Given the description of an element on the screen output the (x, y) to click on. 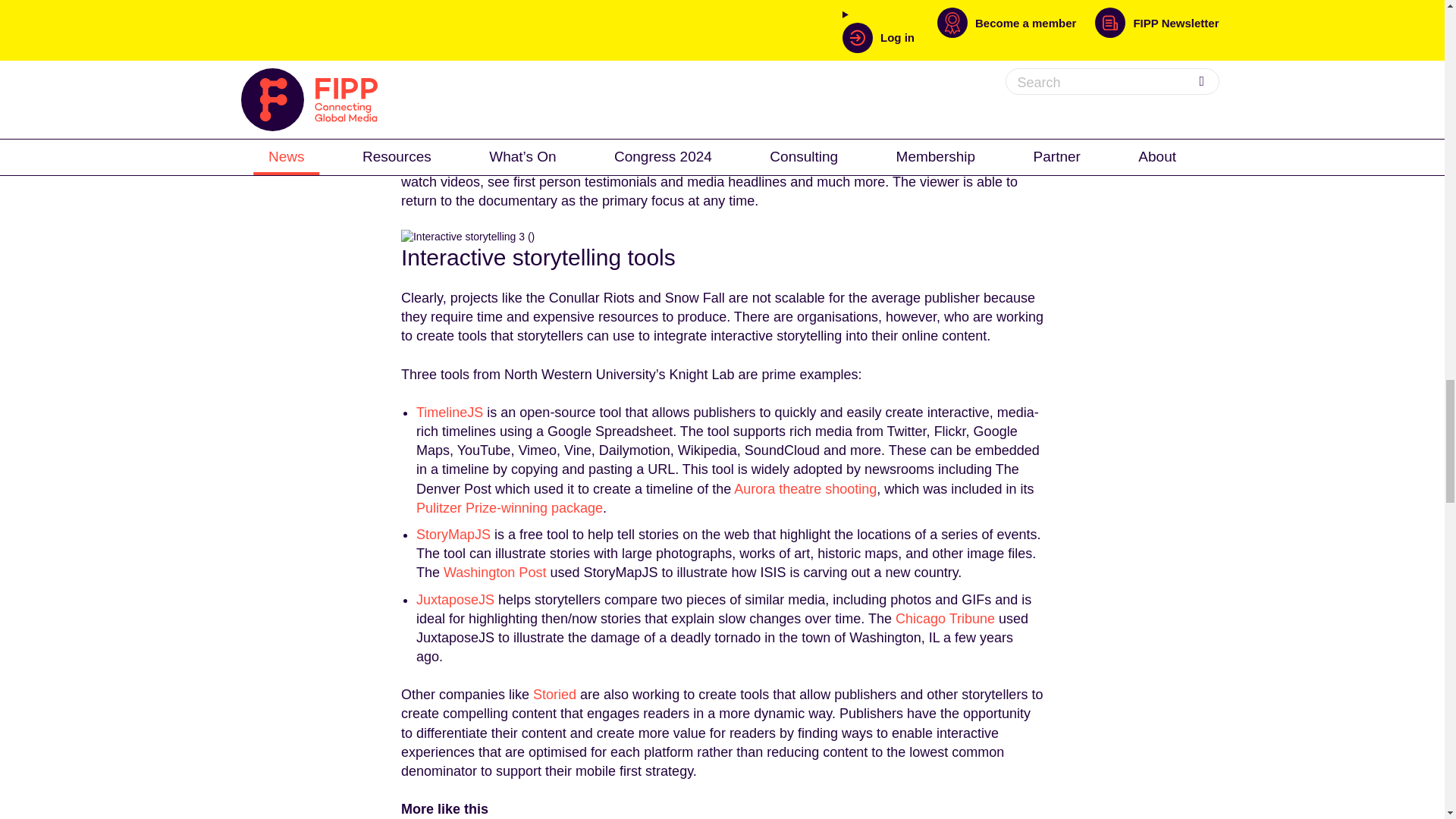
Washington Post (495, 572)
Storied (554, 694)
StoryMapJS (453, 534)
TimelineJS (449, 412)
Chicago Tribune (944, 618)
interactive documentary (519, 48)
Aurora theatre shooting (804, 488)
JuxtaposeJS (455, 598)
Pulitzer Prize-winning package (509, 507)
